Given the description of an element on the screen output the (x, y) to click on. 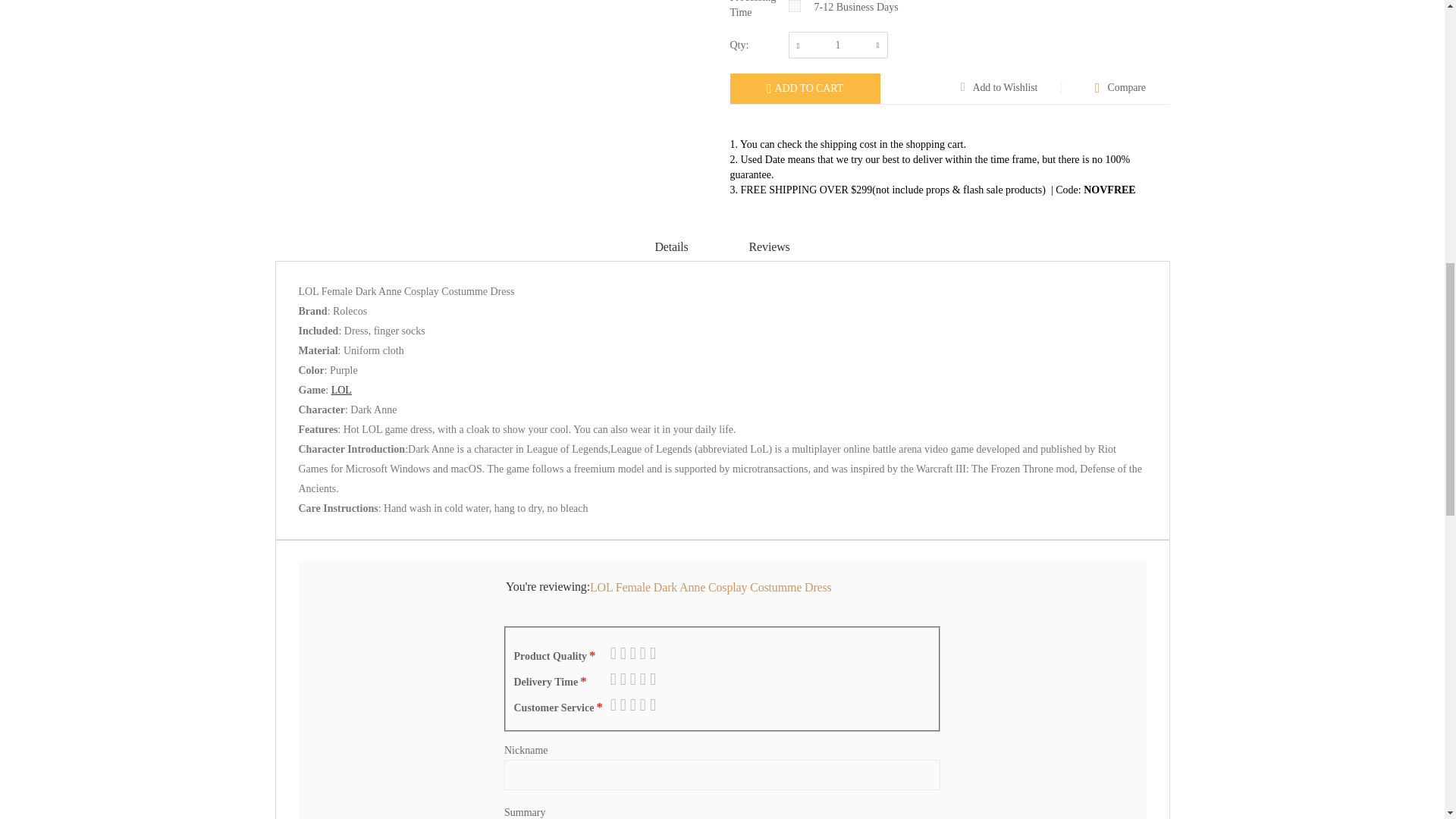
Qty (838, 44)
1 (838, 44)
2 stars (620, 653)
5 stars (634, 653)
3 stars (625, 653)
4 stars (629, 653)
Add To Cart (804, 88)
